Given the description of an element on the screen output the (x, y) to click on. 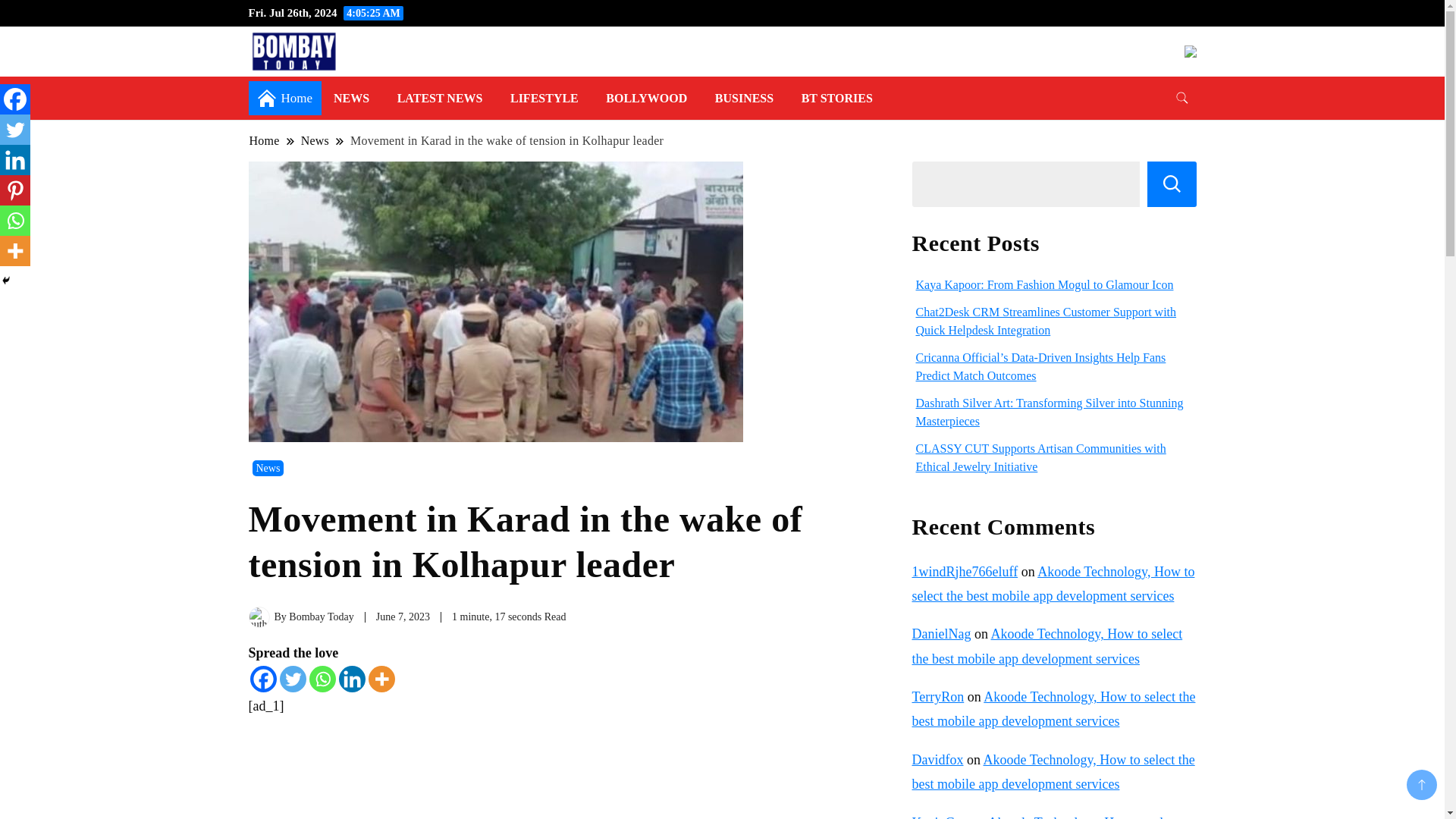
Linkedin (15, 159)
More (381, 678)
BOLLYWOOD (646, 98)
Home (264, 140)
Whatsapp (15, 220)
Hide (5, 280)
News (314, 140)
Bombay Today (320, 616)
News (267, 467)
Facebook (263, 678)
Facebook (15, 99)
BT STORIES (837, 98)
LIFESTYLE (544, 98)
Twitter (292, 678)
Pinterest (15, 190)
